Given the description of an element on the screen output the (x, y) to click on. 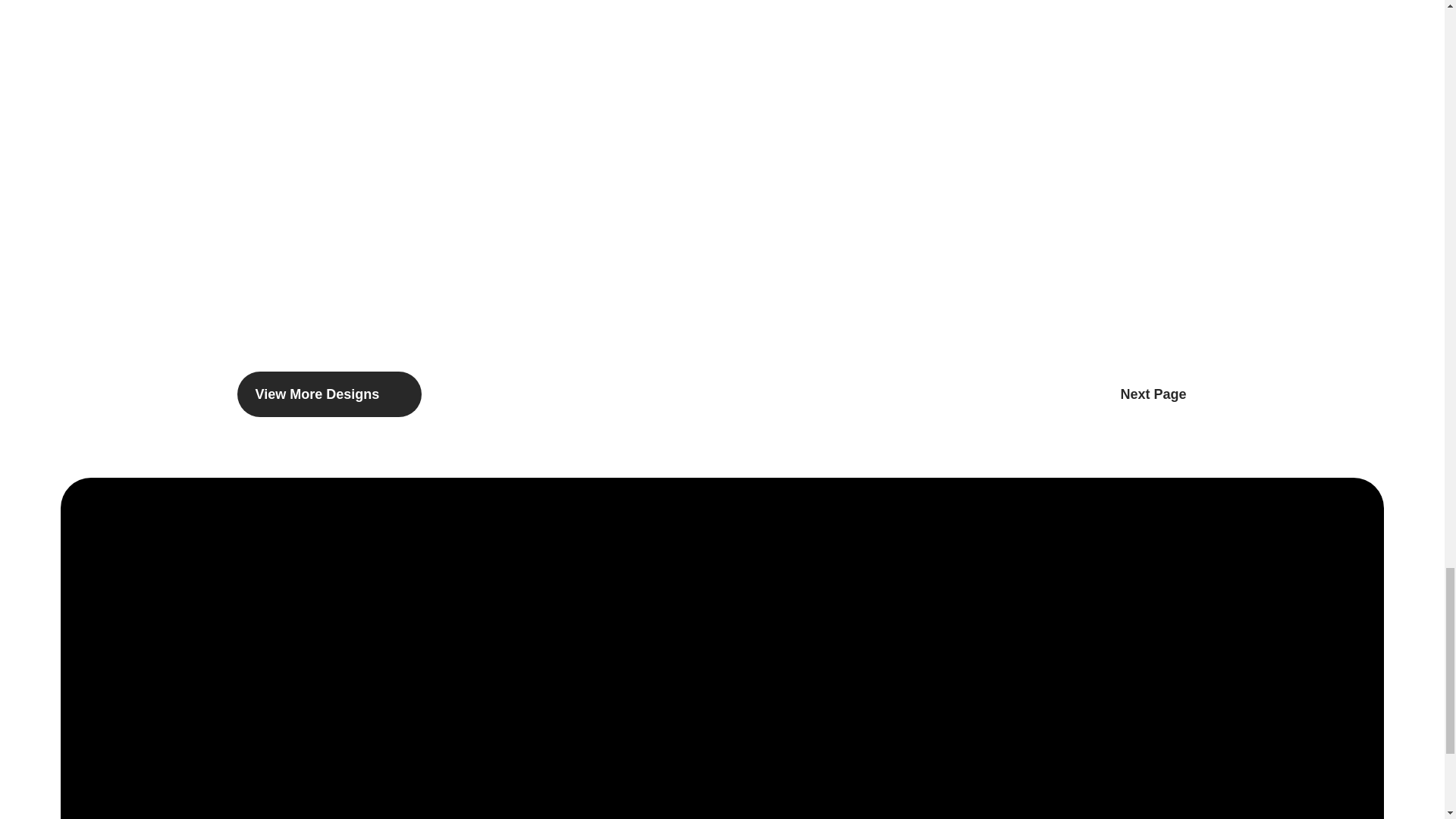
View More Designs (328, 393)
Next Page (1163, 393)
